Given the description of an element on the screen output the (x, y) to click on. 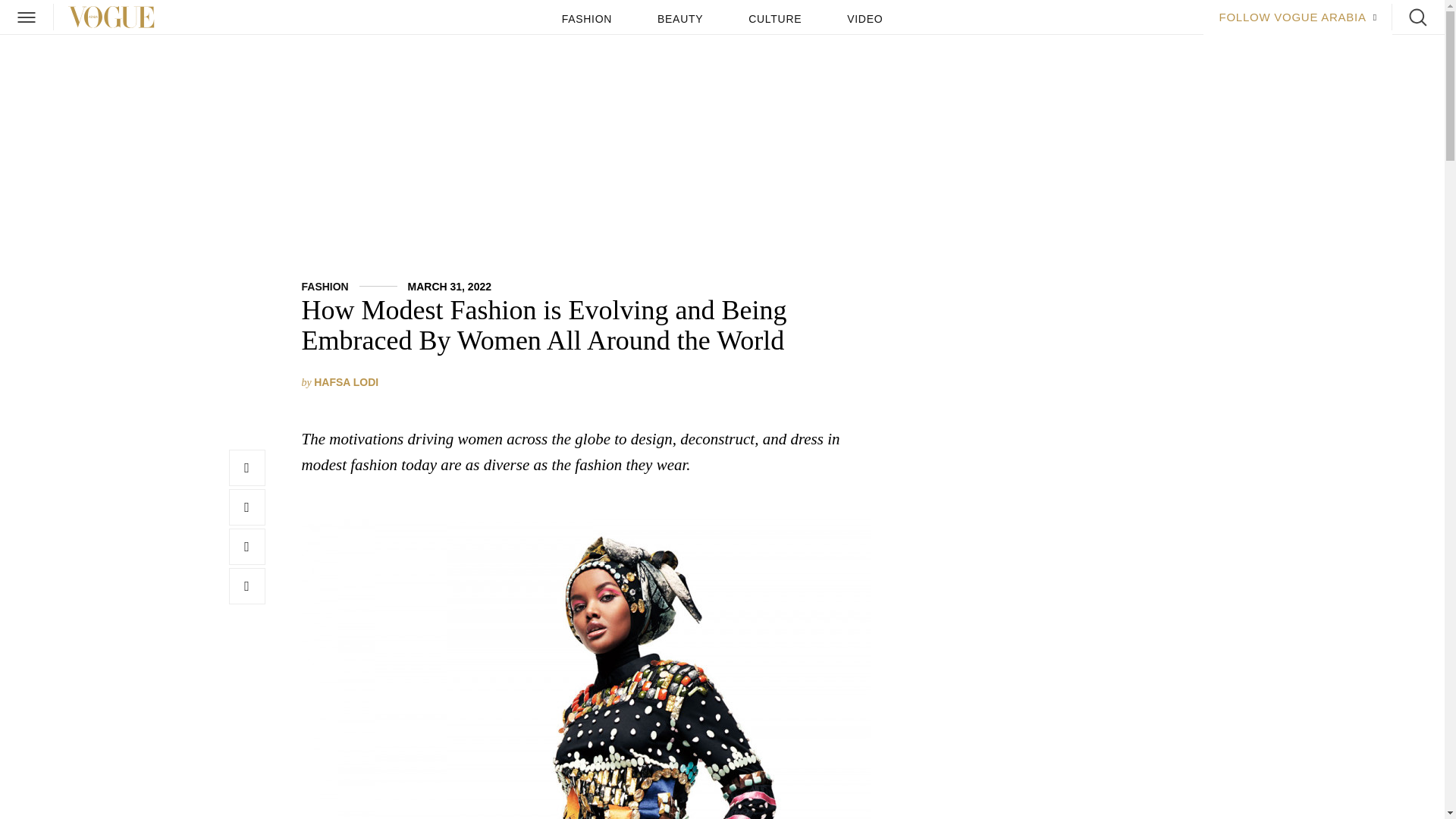
VIDEO (864, 19)
HAFSA LODI (346, 381)
FASHION (325, 286)
BEAUTY (680, 19)
CULTURE (775, 19)
Posts by Hafsa Lodi (346, 381)
FASHION (586, 19)
